Given the description of an element on the screen output the (x, y) to click on. 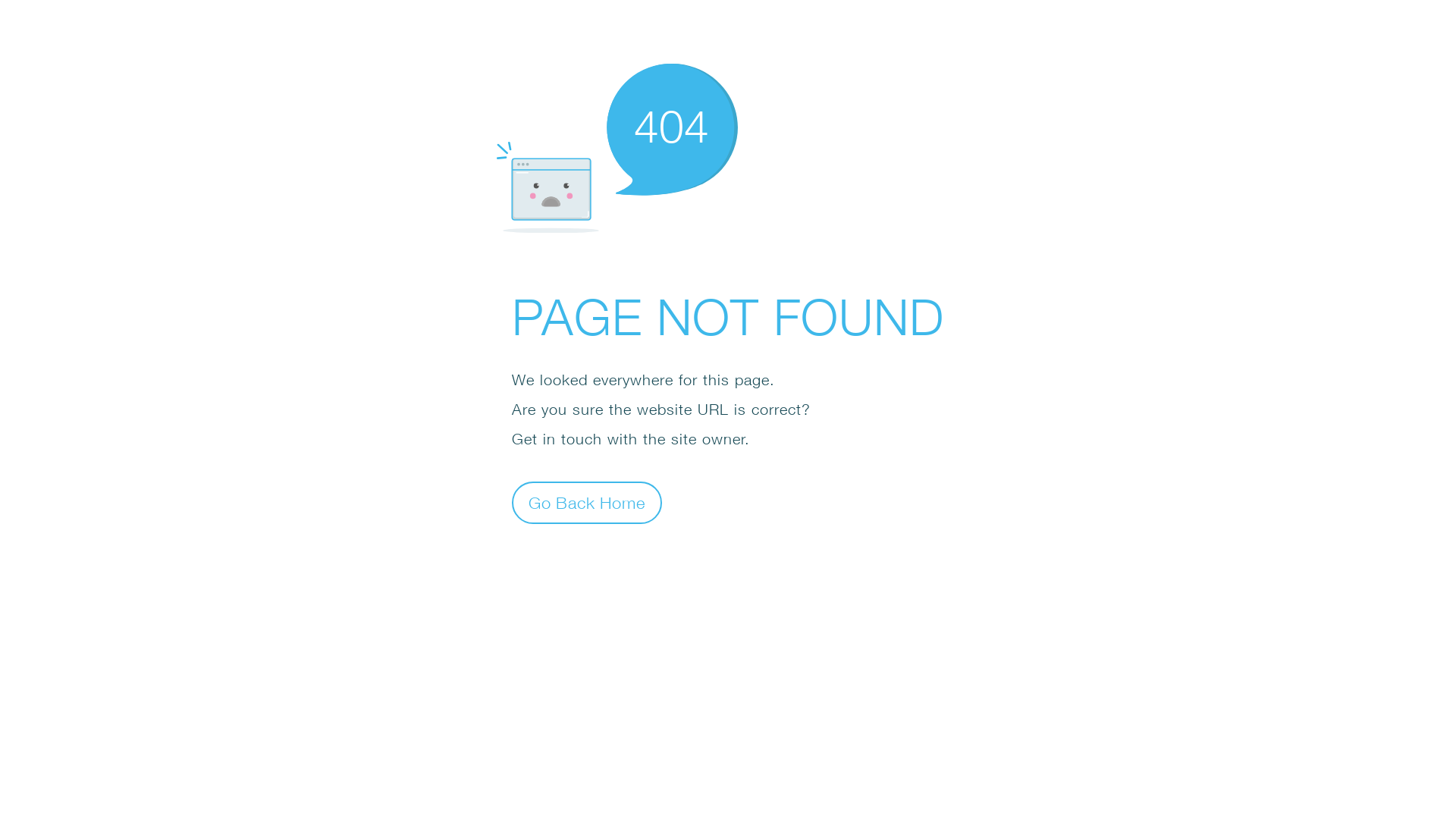
Go Back Home Element type: text (586, 502)
